Given the description of an element on the screen output the (x, y) to click on. 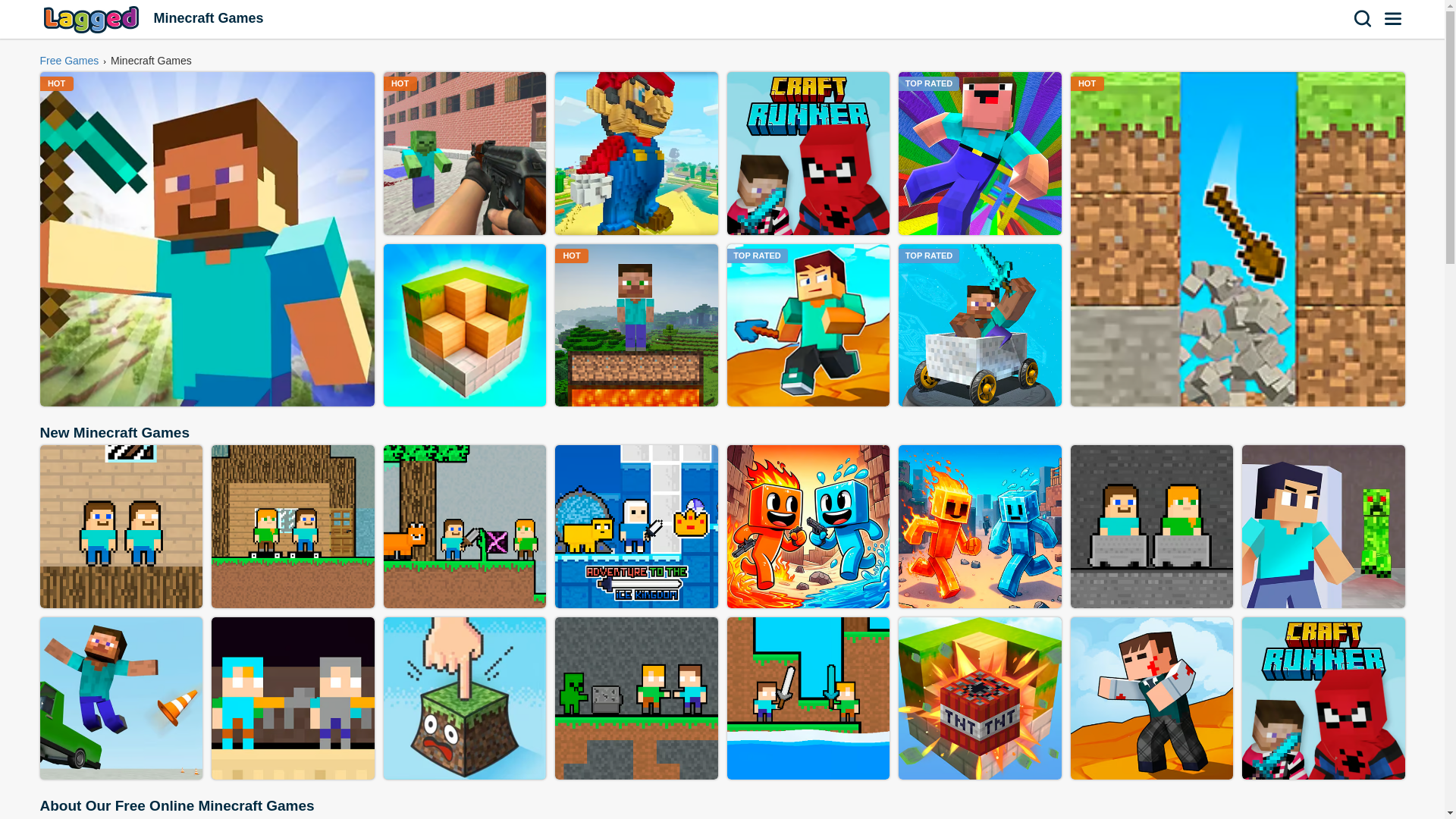
Lagged (92, 19)
Minecraft Games (150, 60)
Free Games (69, 60)
Search (1363, 18)
Lagged (92, 19)
Menu (1393, 18)
